Given the description of an element on the screen output the (x, y) to click on. 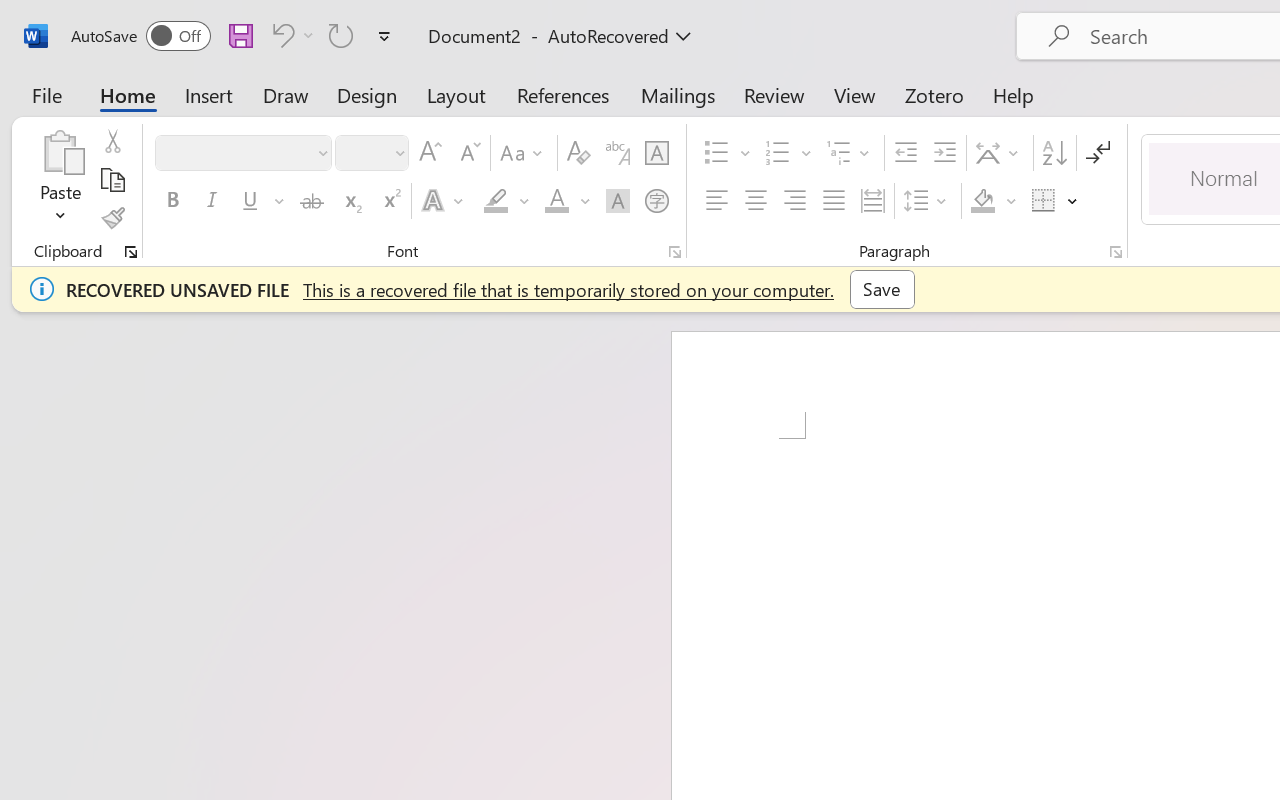
Justify (834, 201)
Subscript (350, 201)
Shading RGB(0, 0, 0) (982, 201)
Text Highlight Color (506, 201)
Text Highlight Color Yellow (495, 201)
Help (1013, 94)
Enclose Characters... (656, 201)
